Given the description of an element on the screen output the (x, y) to click on. 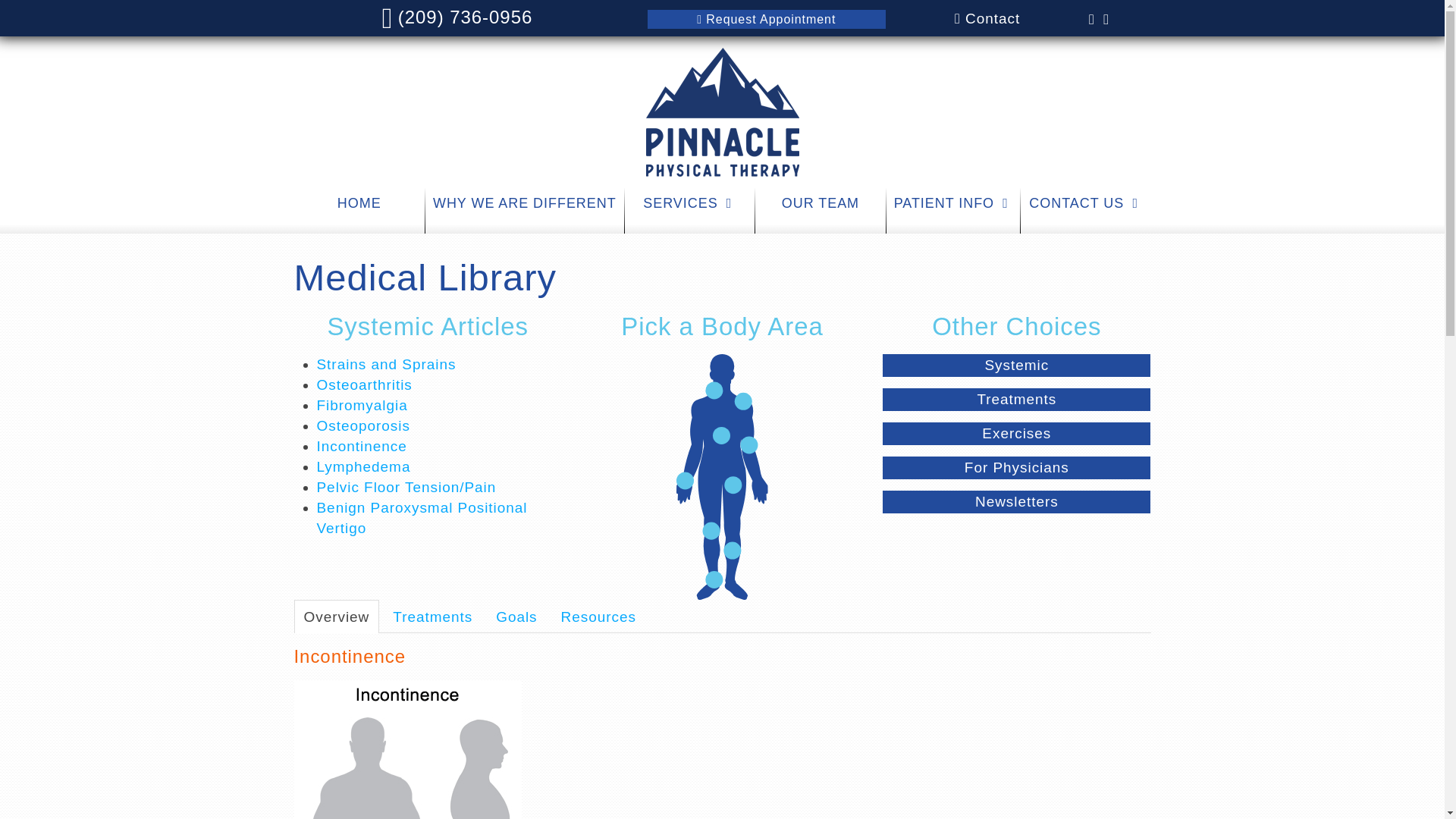
Contact (987, 17)
Systemic (1016, 364)
Request Appointment (766, 18)
Shoulder (743, 401)
For Physicians (1016, 467)
Elbow (749, 444)
Foot and Ankle (714, 579)
OUR TEAM (819, 210)
Newsletters (1016, 501)
WHY WE ARE DIFFERENT (524, 210)
Leg (732, 550)
SERVICES (689, 210)
CONTACT US (1085, 210)
Wrist (685, 479)
Knee (711, 530)
